Given the description of an element on the screen output the (x, y) to click on. 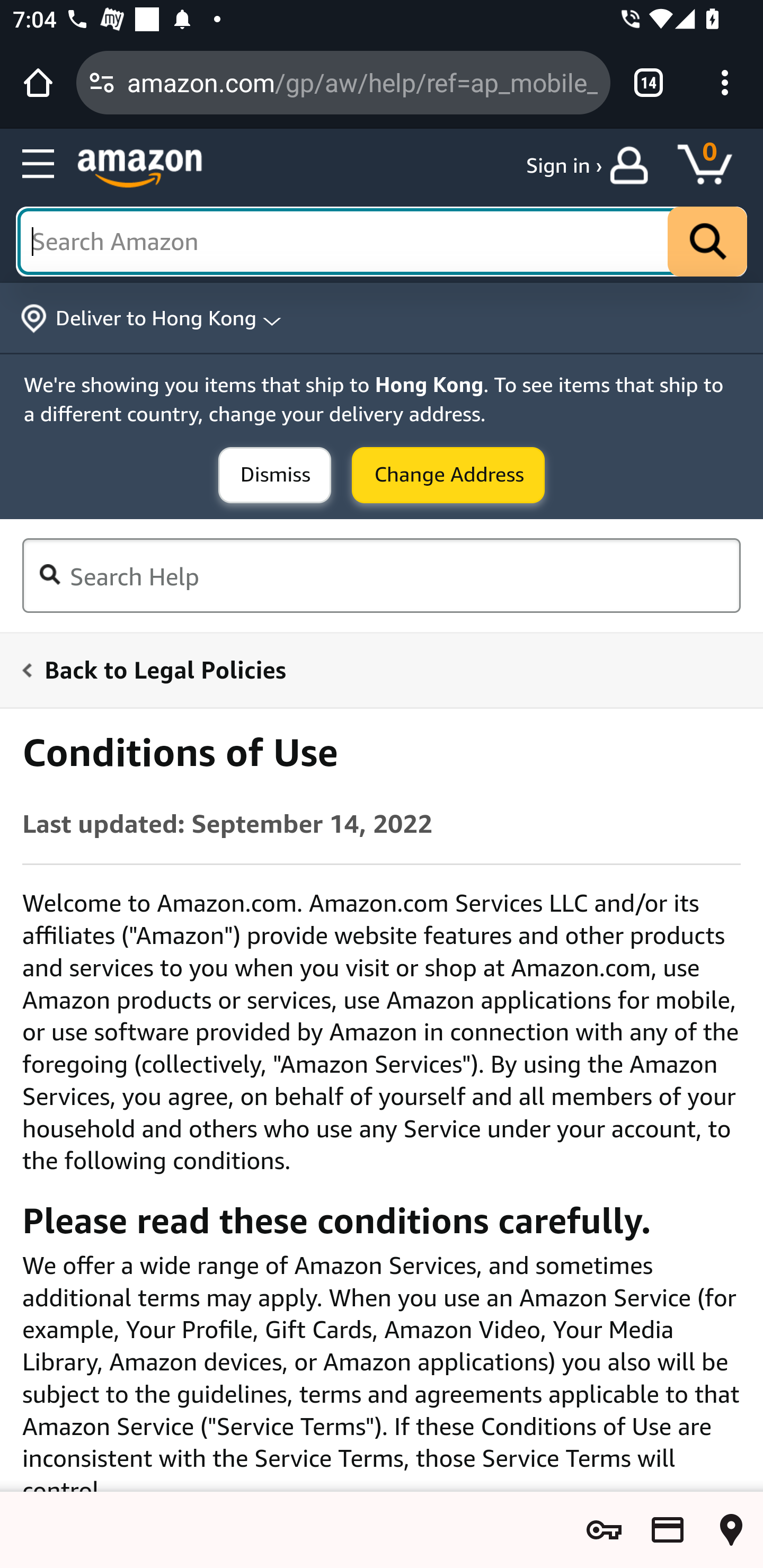
Open the home page (38, 82)
Connection is secure (101, 82)
Switch or close tabs (648, 82)
Customize and control Google Chrome (724, 82)
Open Menu (38, 164)
Sign in › (564, 165)
your account (633, 165)
Cart 0 (713, 165)
Amazon (139, 169)
Go (706, 240)
Submit (274, 474)
Submit (447, 474)
Back to Legal Policies (370, 668)
Show saved passwords and password options (603, 1530)
Show saved payment methods (667, 1530)
Show saved addresses (731, 1530)
